Given the description of an element on the screen output the (x, y) to click on. 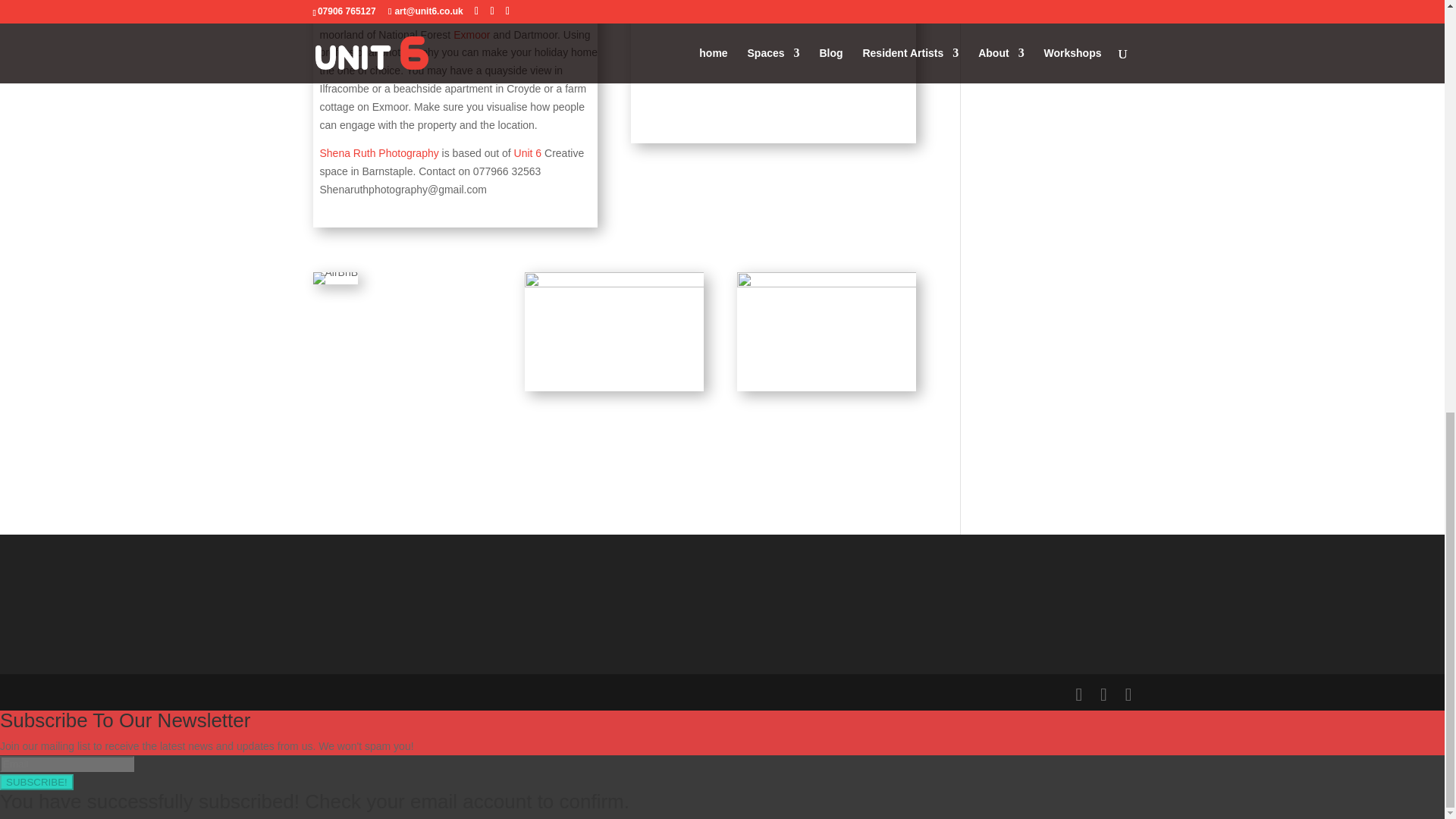
Shena Ruth Photography (379, 152)
room  (335, 277)
Unit 6 (528, 152)
Exmoor (470, 34)
Saunton (464, 16)
Croyde (336, 16)
Woolacombe (389, 16)
Unit 6 Creative Studios (528, 152)
